Given the description of an element on the screen output the (x, y) to click on. 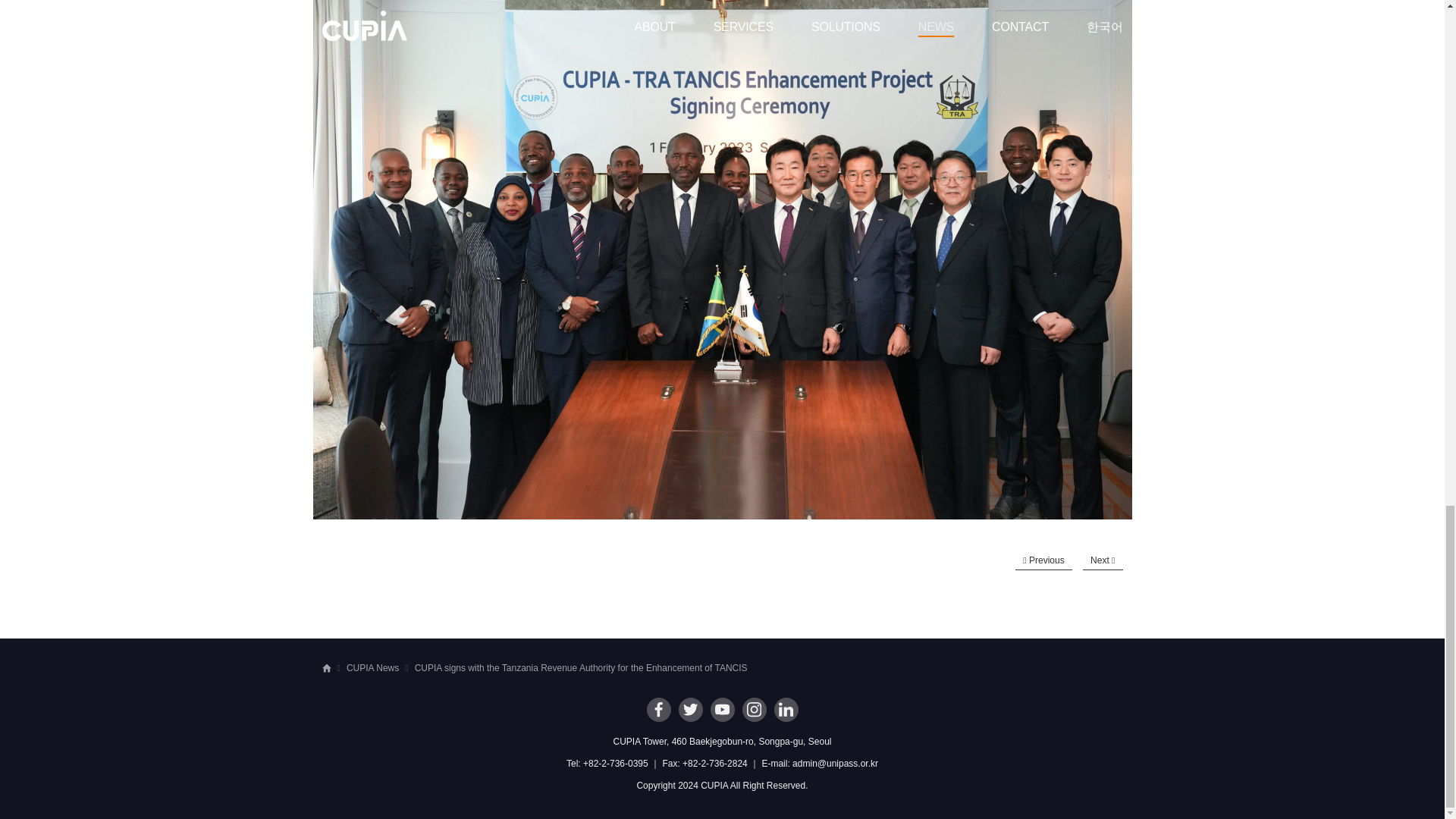
Next (1102, 560)
CUPIA News (372, 667)
Previous (1042, 560)
